Given the description of an element on the screen output the (x, y) to click on. 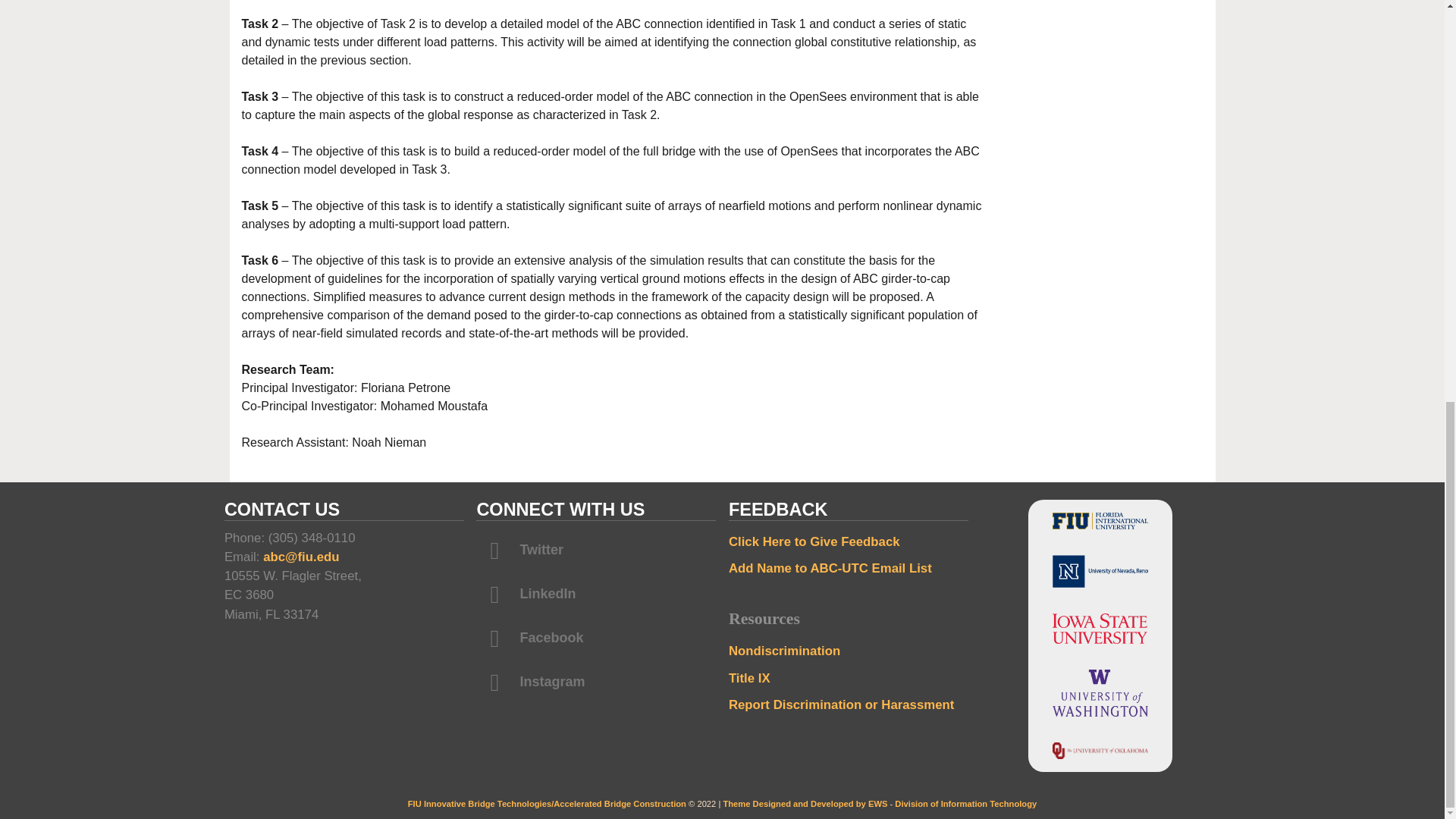
Enterprise Web Services (804, 803)
